Given the description of an element on the screen output the (x, y) to click on. 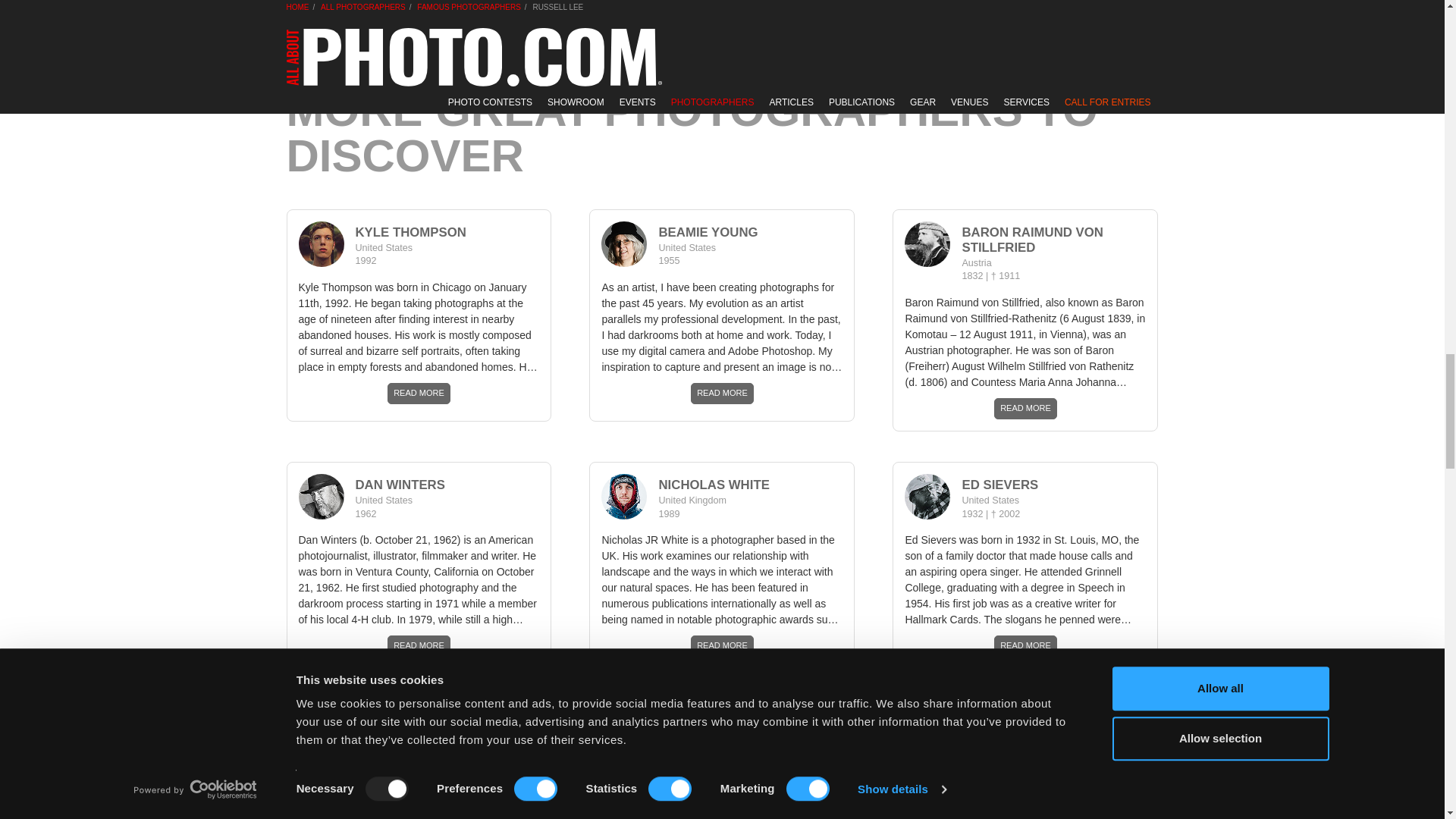
Subscribe (1106, 17)
